Given the description of an element on the screen output the (x, y) to click on. 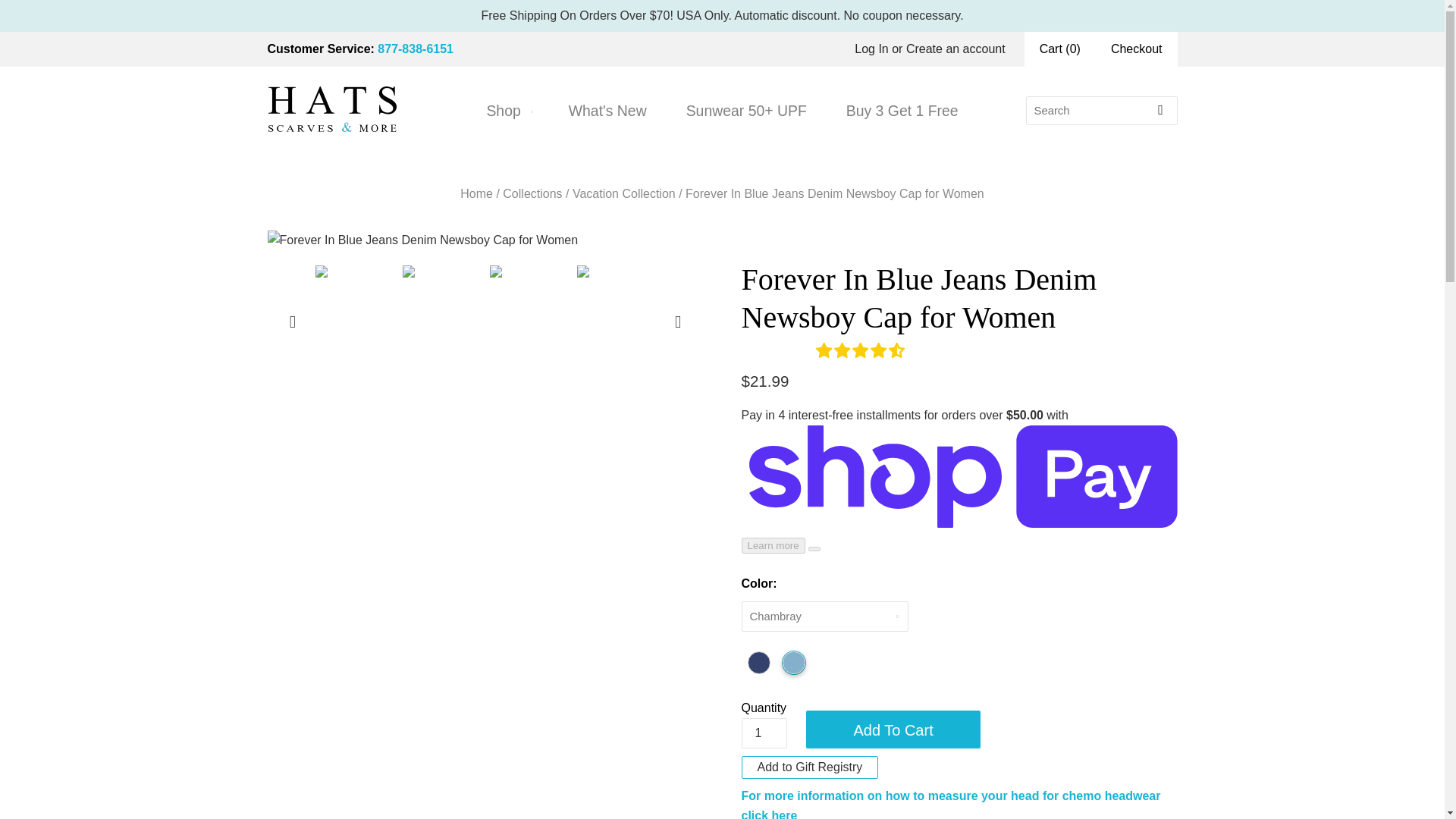
Shop (506, 110)
Add To Cart (892, 729)
Checkout (1136, 48)
Customer Service: 877-838-6151 (360, 48)
Log In (871, 48)
Create an account (955, 48)
Add to Gift Registry (810, 766)
1 (764, 733)
